Given the description of an element on the screen output the (x, y) to click on. 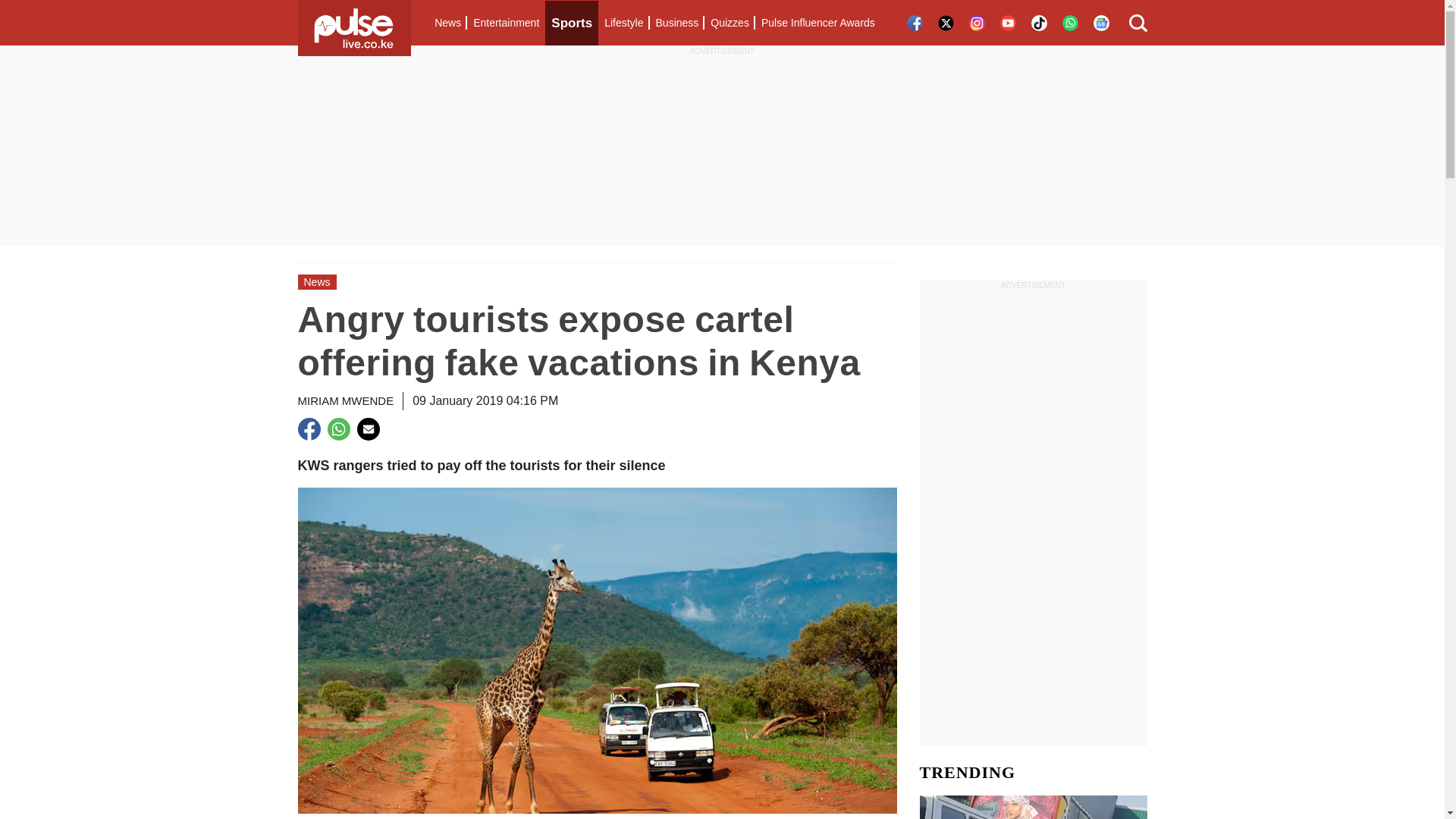
Lifestyle (623, 22)
Business (676, 22)
Quizzes (729, 22)
Sports (571, 22)
Pulse Influencer Awards (817, 22)
Entertainment (505, 22)
